Given the description of an element on the screen output the (x, y) to click on. 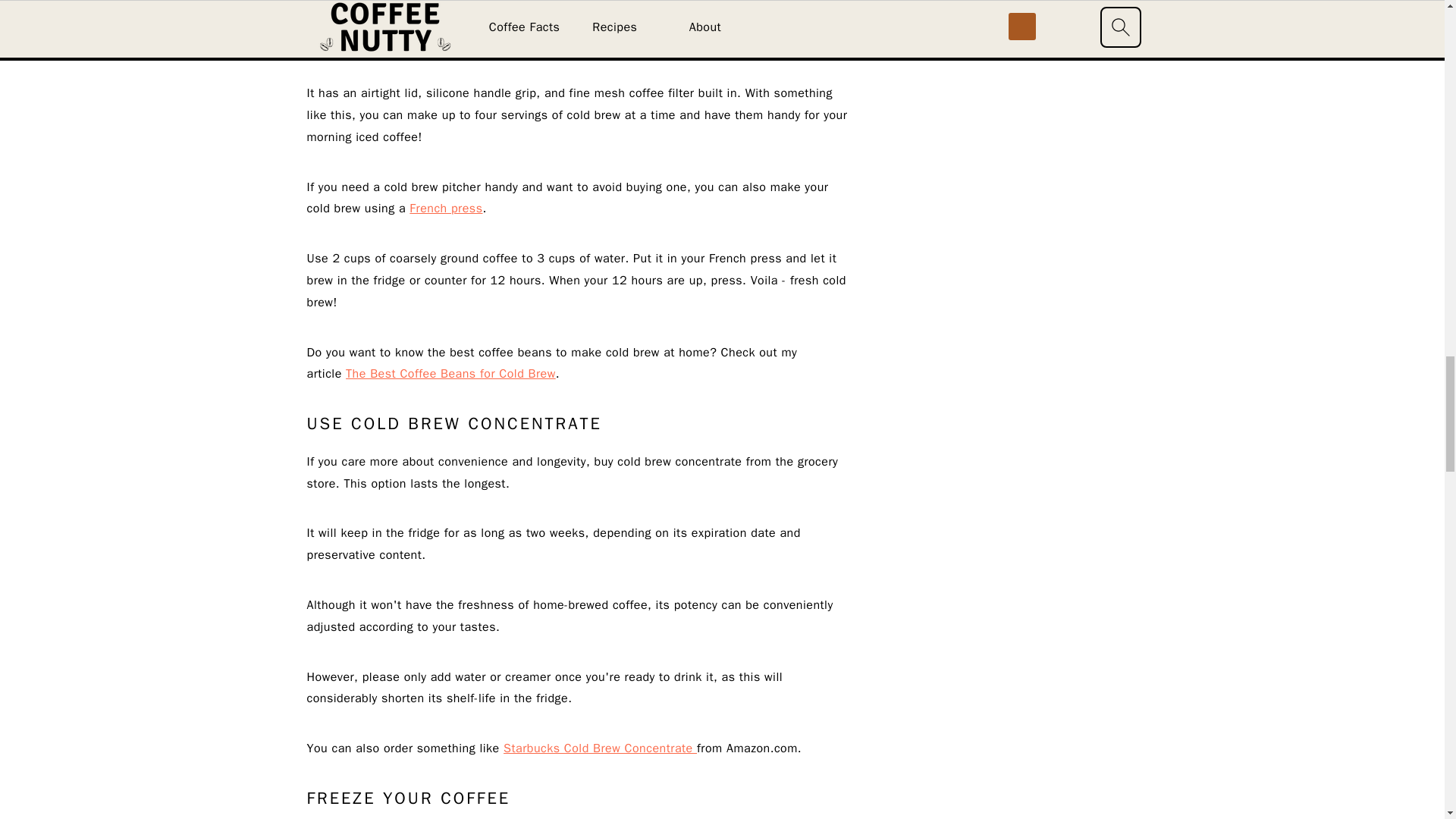
The Best Coffee Beans for Cold Brew (451, 373)
Takeya Patented Deluxe Cold Brew Coffee Maker (667, 21)
Starbucks Cold Brew Concentrate  (600, 748)
French press (445, 208)
